Given the description of an element on the screen output the (x, y) to click on. 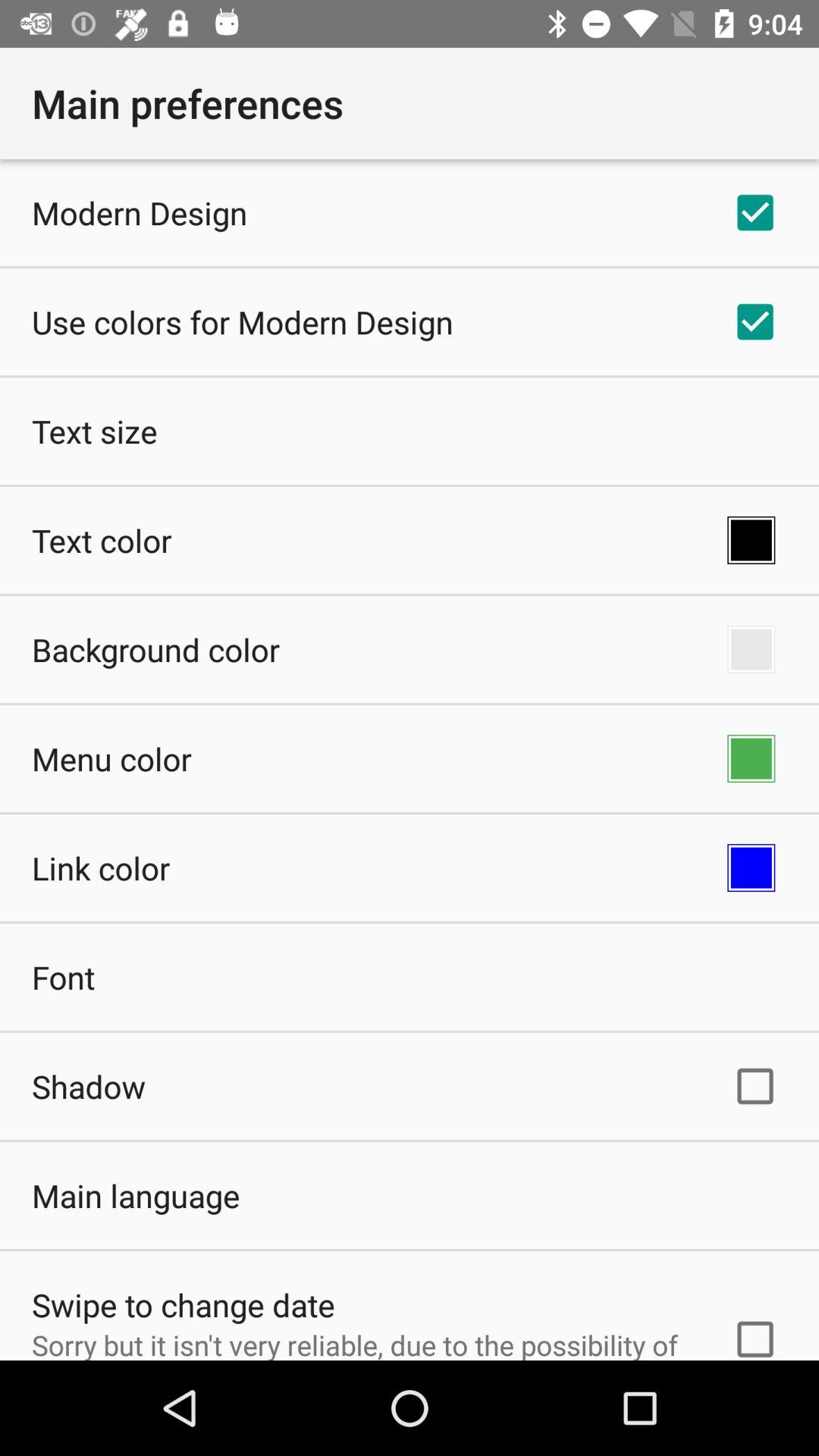
scroll until the sorry but it icon (361, 1343)
